Given the description of an element on the screen output the (x, y) to click on. 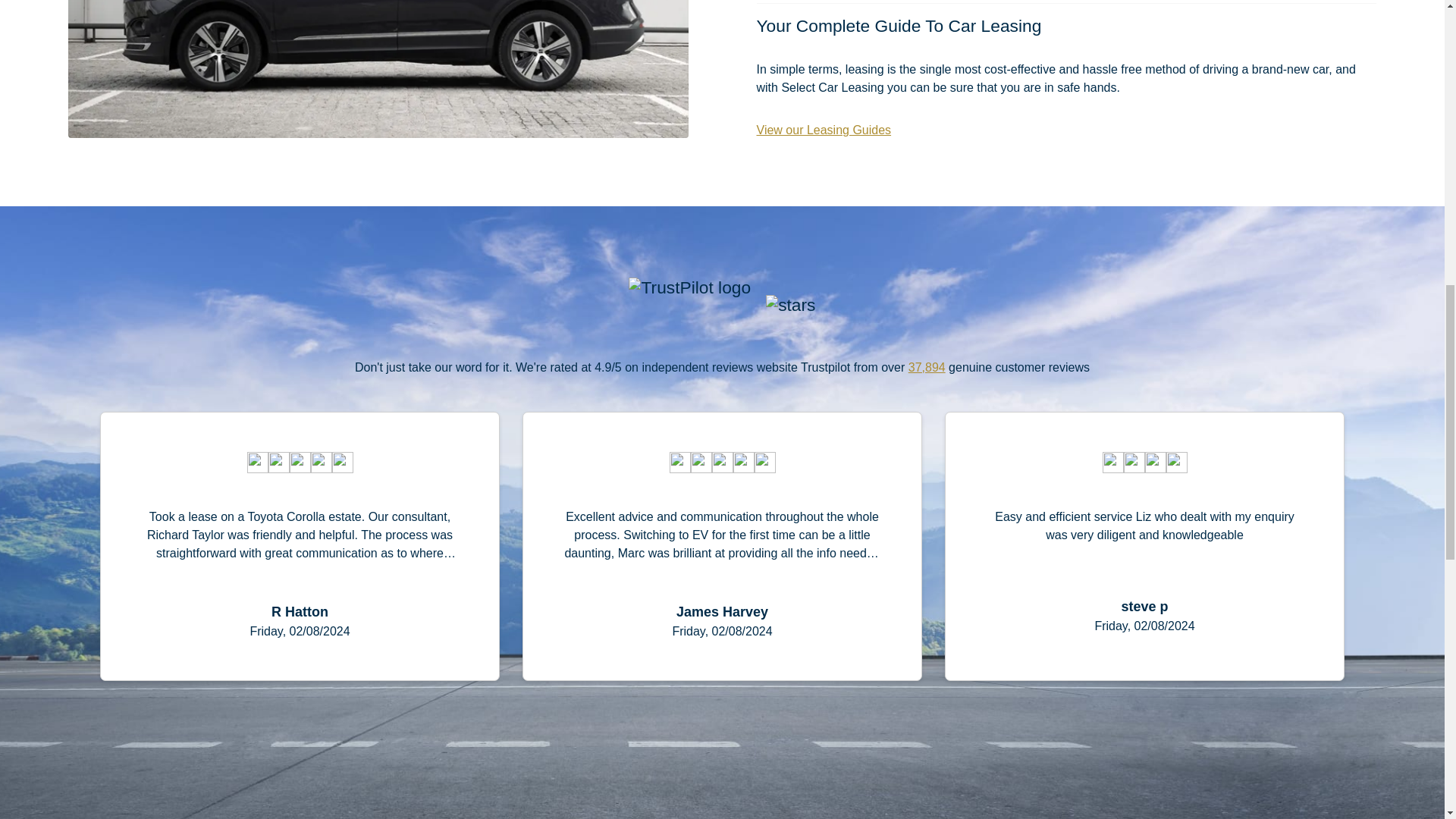
5 stars (300, 462)
4 stars (1145, 462)
5 stars (721, 462)
